Given the description of an element on the screen output the (x, y) to click on. 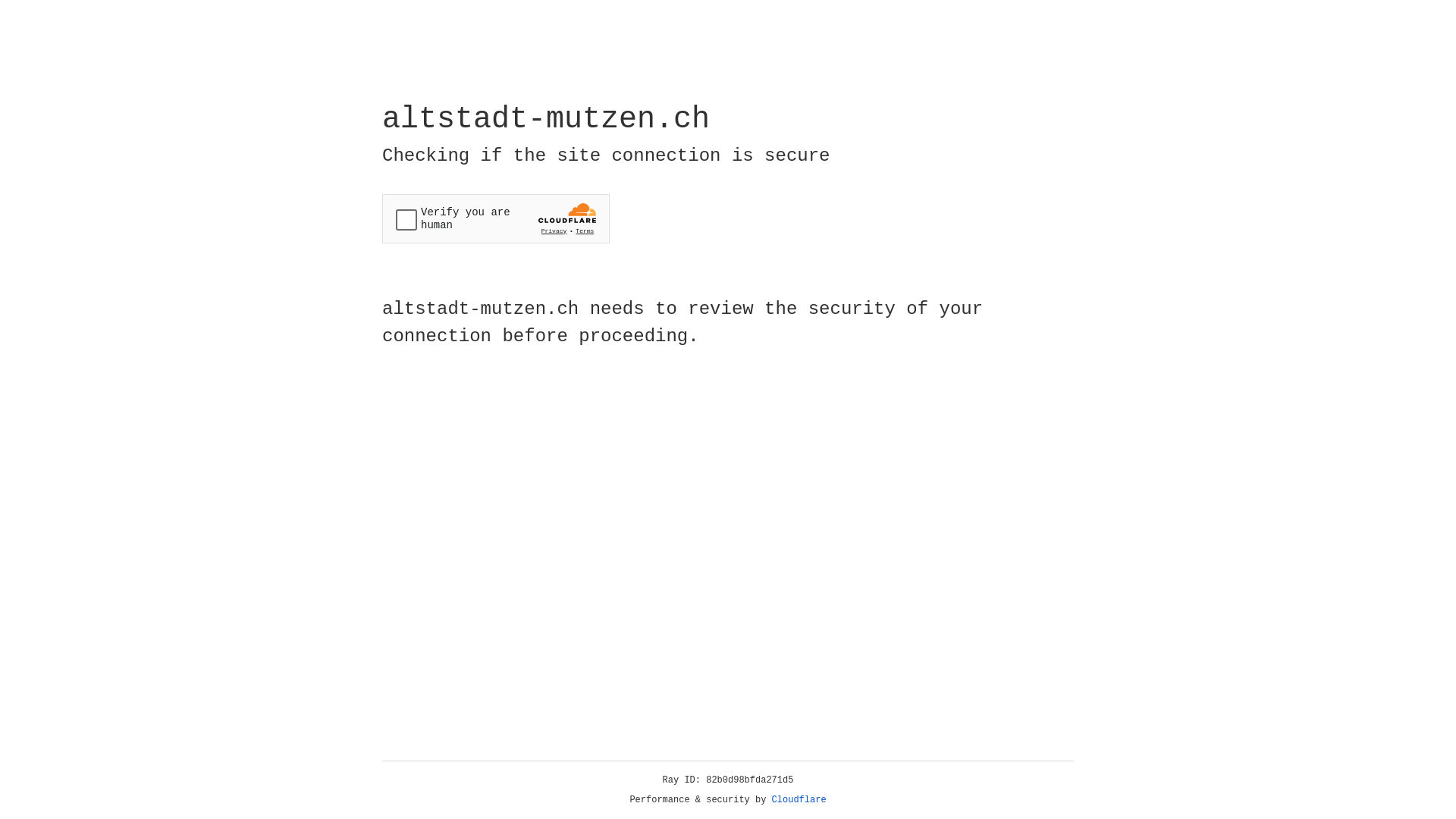
Widget containing a Cloudflare security challenge Element type: hover (495, 218)
Cloudflare Element type: text (798, 799)
